Given the description of an element on the screen output the (x, y) to click on. 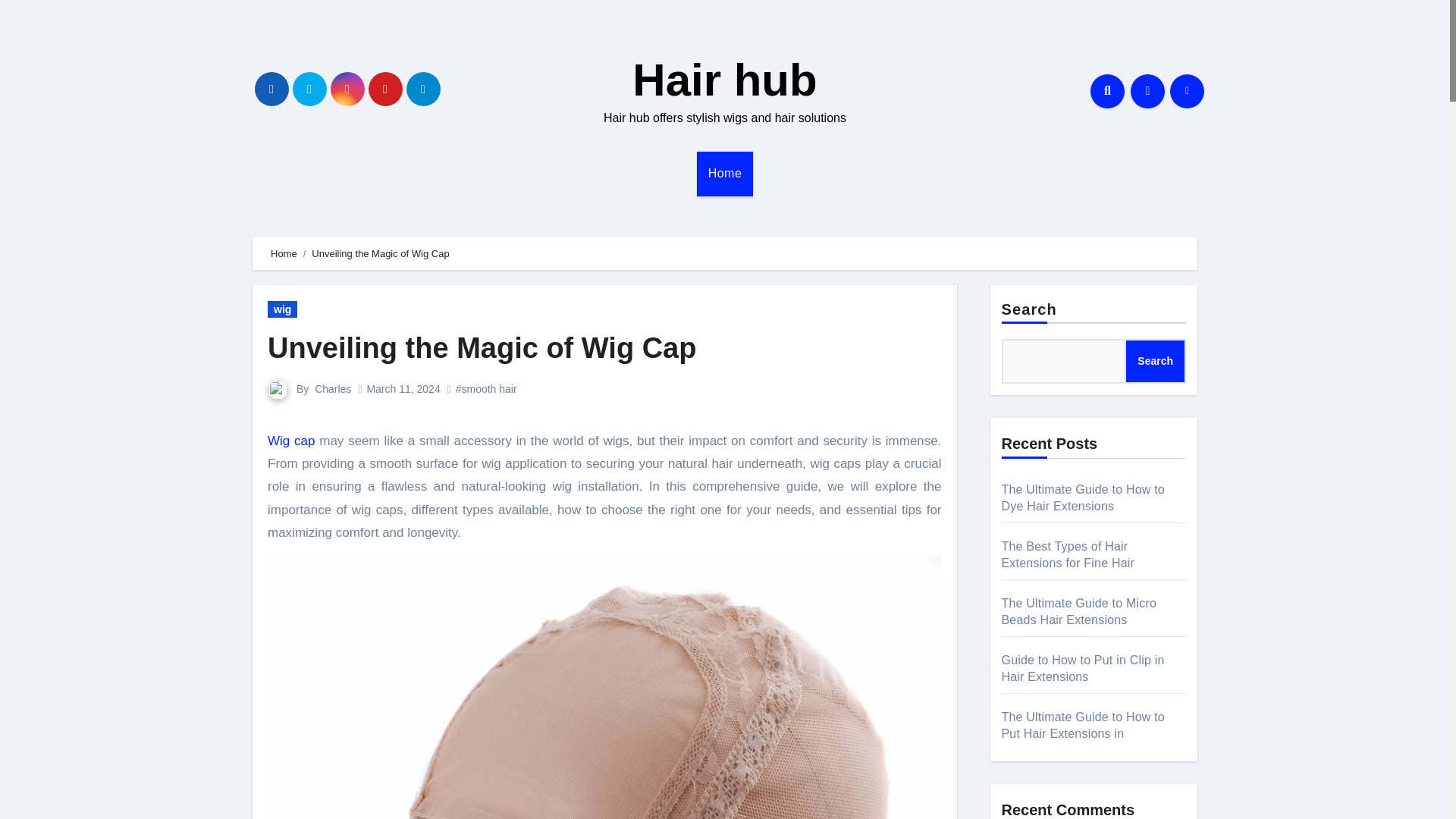
Charles (332, 388)
Unveiling the Magic of Wig Cap (481, 347)
wig (282, 309)
March 11, 2024 (402, 388)
Permalink to: Unveiling the Magic of Wig Cap (481, 347)
Wig cap (290, 440)
Home (725, 173)
Home (283, 253)
Hair hub (723, 79)
Home (725, 173)
